Given the description of an element on the screen output the (x, y) to click on. 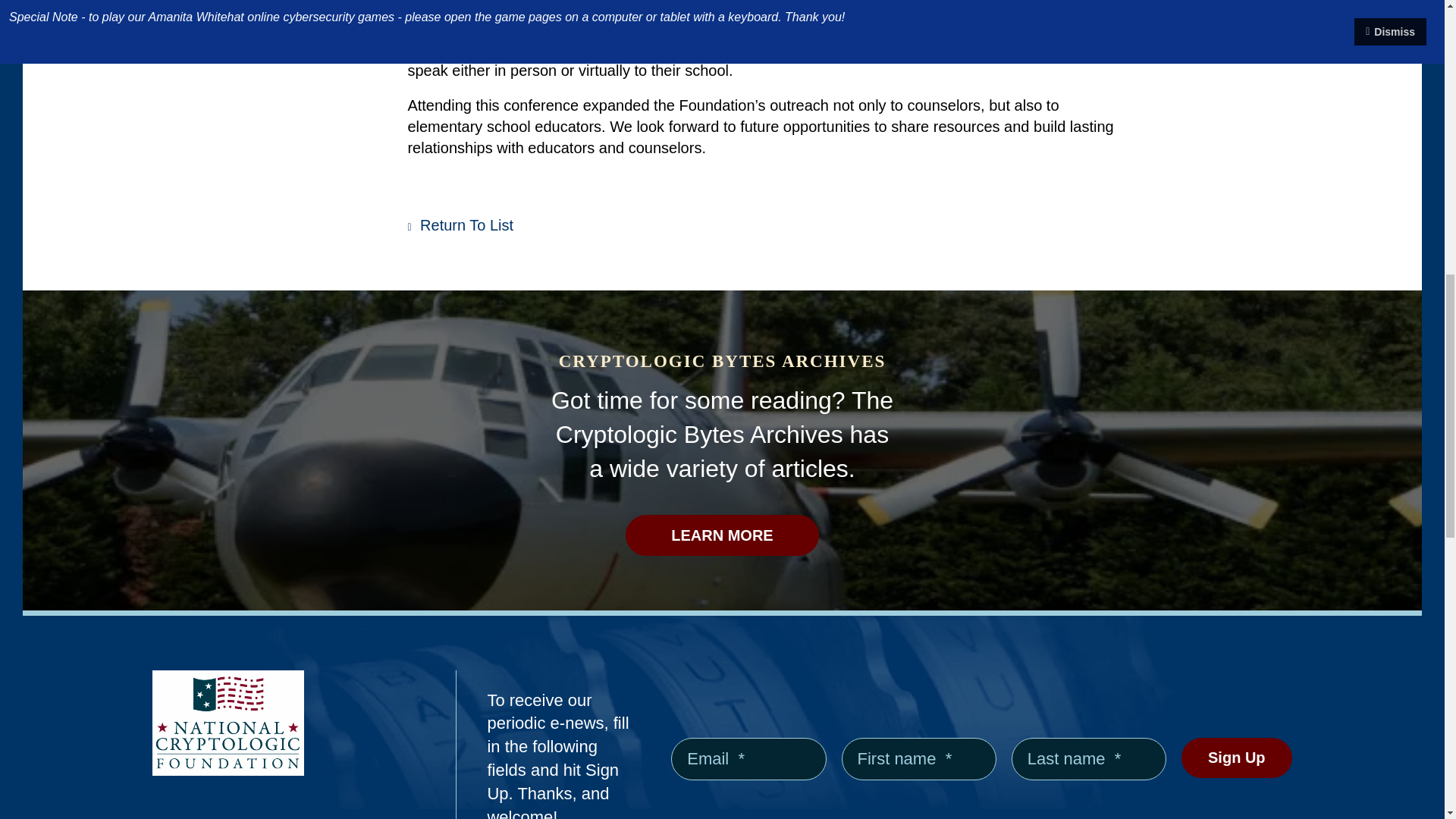
logo (228, 722)
Sign Up (1236, 757)
